Given the description of an element on the screen output the (x, y) to click on. 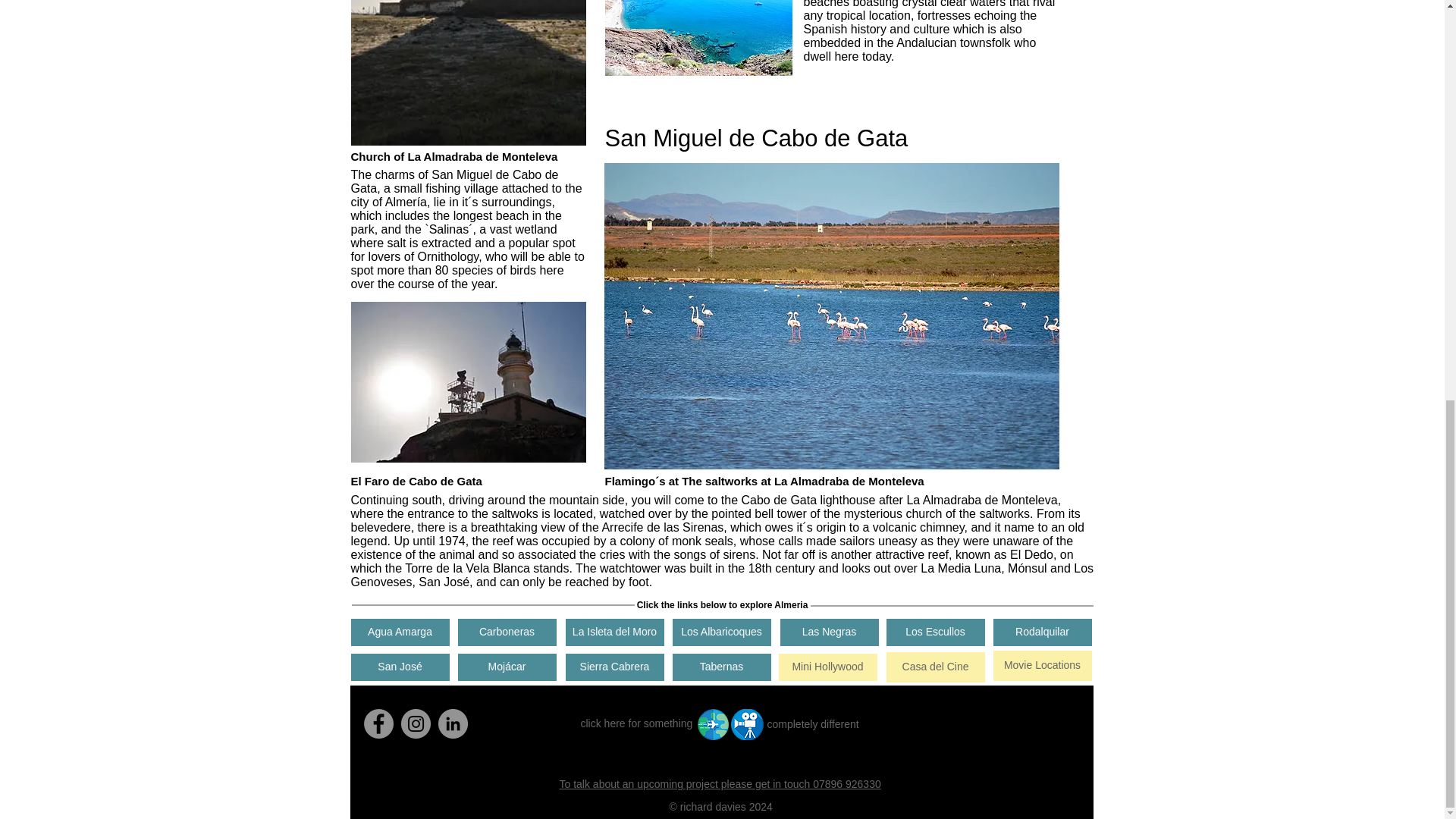
Carboneras (507, 632)
Mini Hollywood (826, 666)
La Isleta del Moro (614, 632)
Tabernas (720, 666)
Sierra Cabrera (614, 666)
Casa del Cine (934, 666)
Los Escullos (934, 632)
Las Negras (827, 632)
Agua Amarga (399, 632)
Los Albaricoques (720, 632)
